Given the description of an element on the screen output the (x, y) to click on. 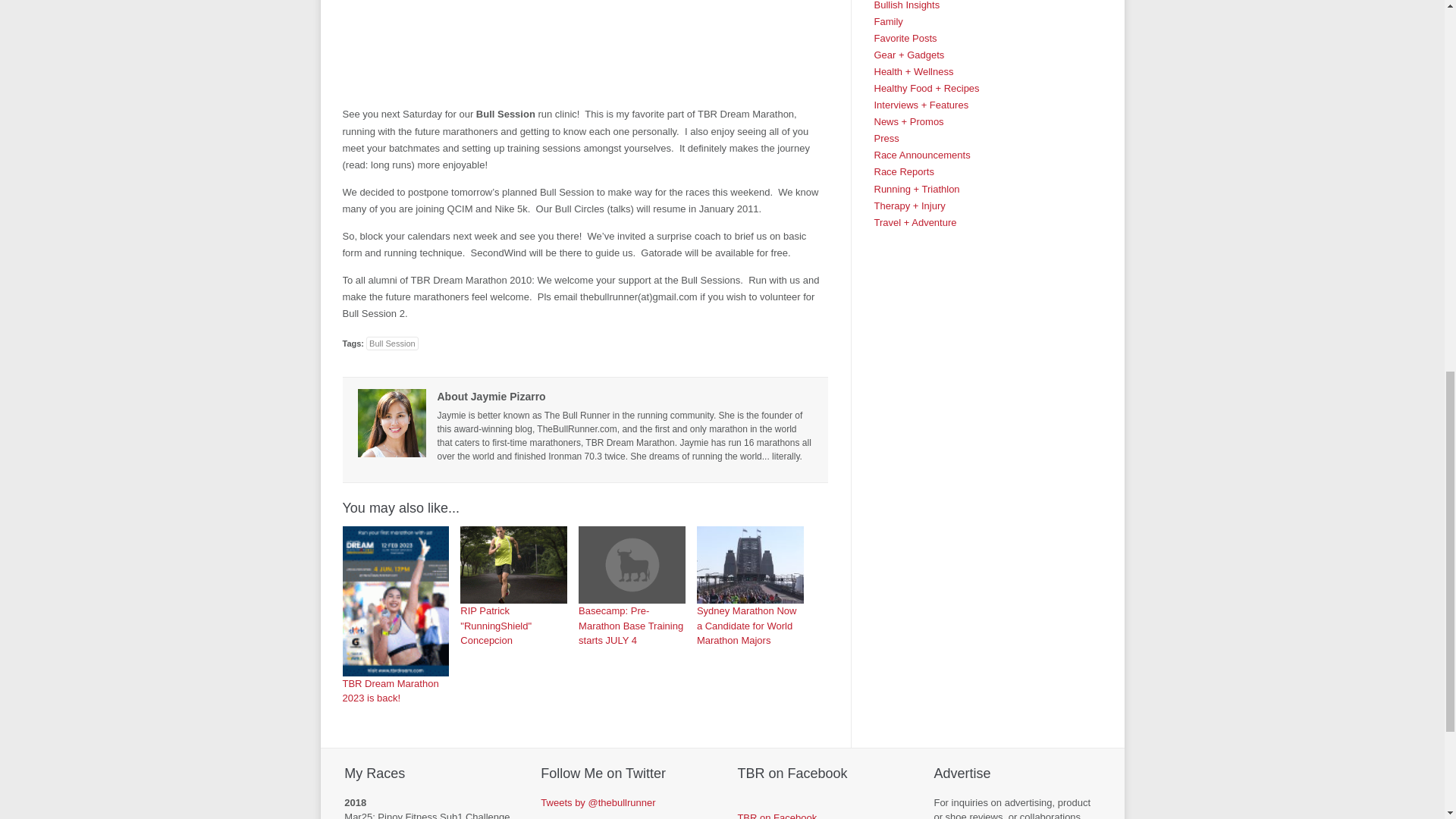
Race Reports (903, 171)
Sydney Marathon Now a Candidate for World Marathon Majors (750, 586)
Family (887, 21)
Favorite Posts (904, 38)
Basecamp: Pre-Marathon Base Training starts JULY 4 (631, 564)
Bullish Insights (906, 4)
Race Announcements (921, 154)
BULLSESSION2 by JPizarro2008, on Flickr (585, 47)
RIP Patrick "RunningShield" Concepcion (513, 586)
Press (885, 138)
